Given the description of an element on the screen output the (x, y) to click on. 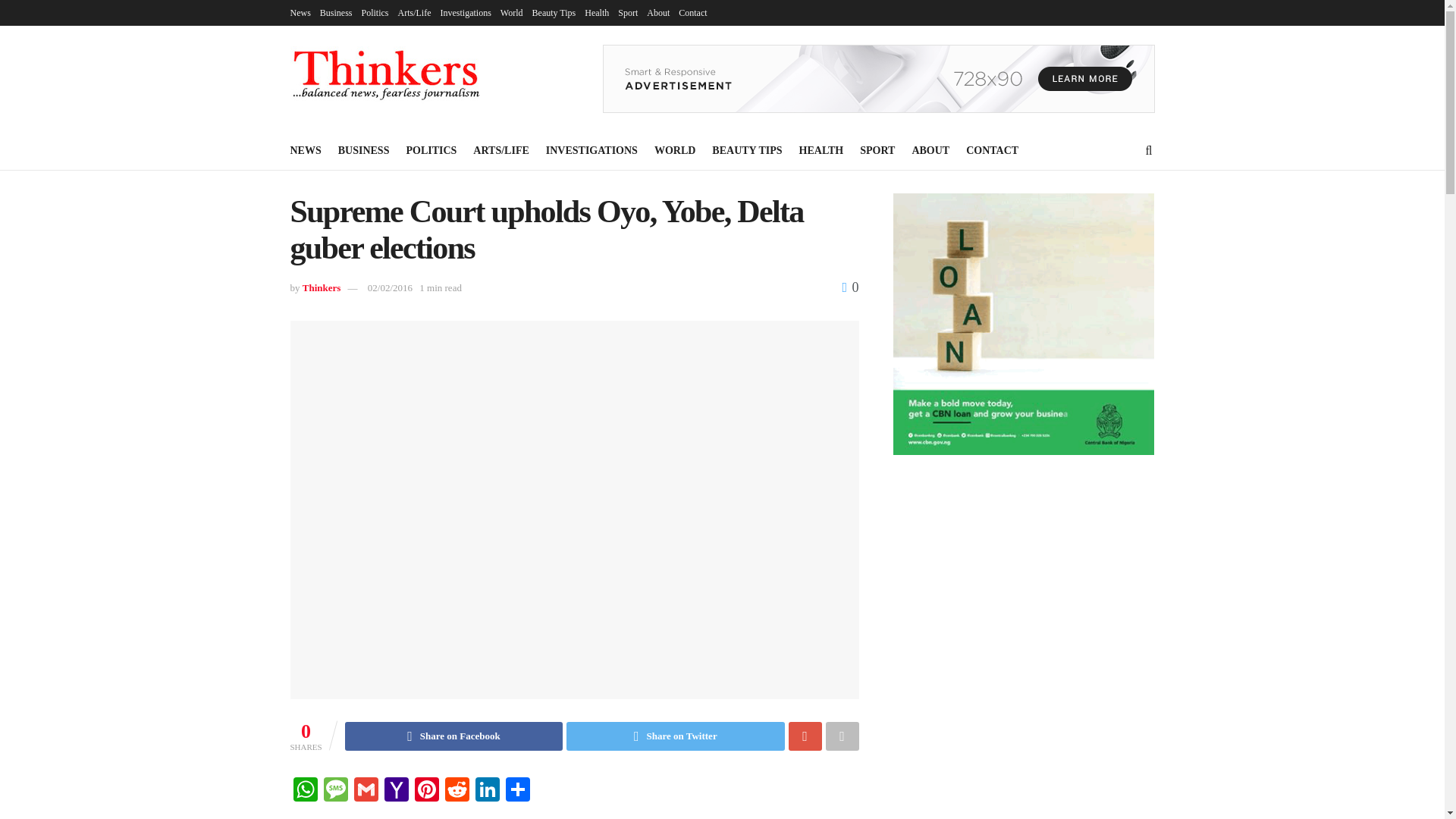
Yahoo Mail (395, 791)
BEAUTY TIPS (746, 150)
Gmail (365, 791)
Beauty Tips (554, 12)
Pinterest (425, 791)
ABOUT (930, 150)
NEWS (304, 150)
Reddit (456, 791)
Contact (692, 12)
HEALTH (821, 150)
